Given the description of an element on the screen output the (x, y) to click on. 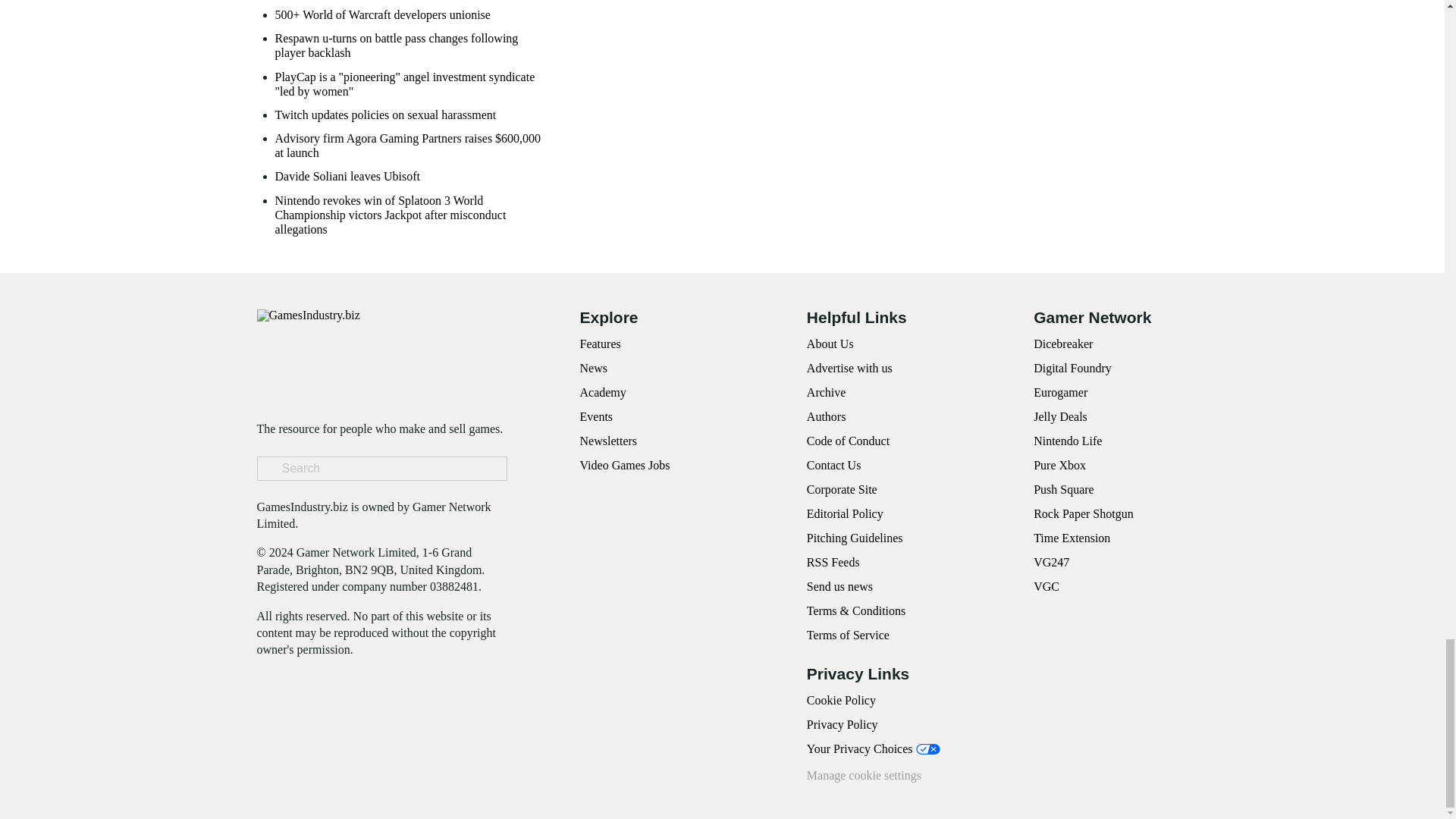
Academy (602, 391)
About Us (829, 343)
Video Games Jobs (624, 464)
Davide Soliani leaves Ubisoft (347, 175)
Advertise with us (849, 367)
Events (595, 416)
News (593, 367)
Newsletters (608, 440)
Archive (825, 391)
Features (599, 343)
Twitch updates policies on sexual harassment (385, 114)
